Given the description of an element on the screen output the (x, y) to click on. 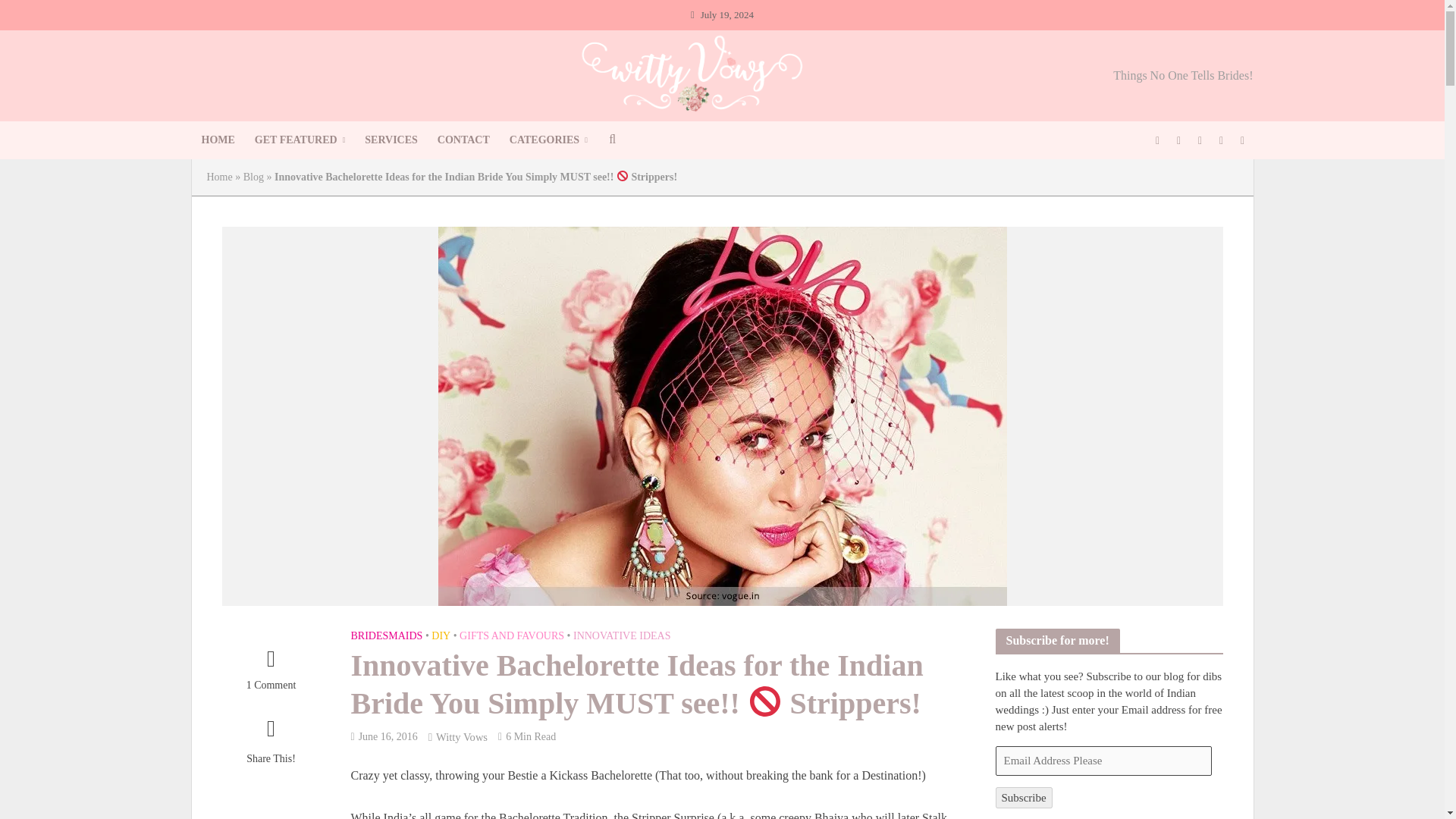
HOME (217, 139)
CATEGORIES (547, 139)
CONTACT (463, 139)
SERVICES (391, 139)
GET FEATURED (299, 139)
